Given the description of an element on the screen output the (x, y) to click on. 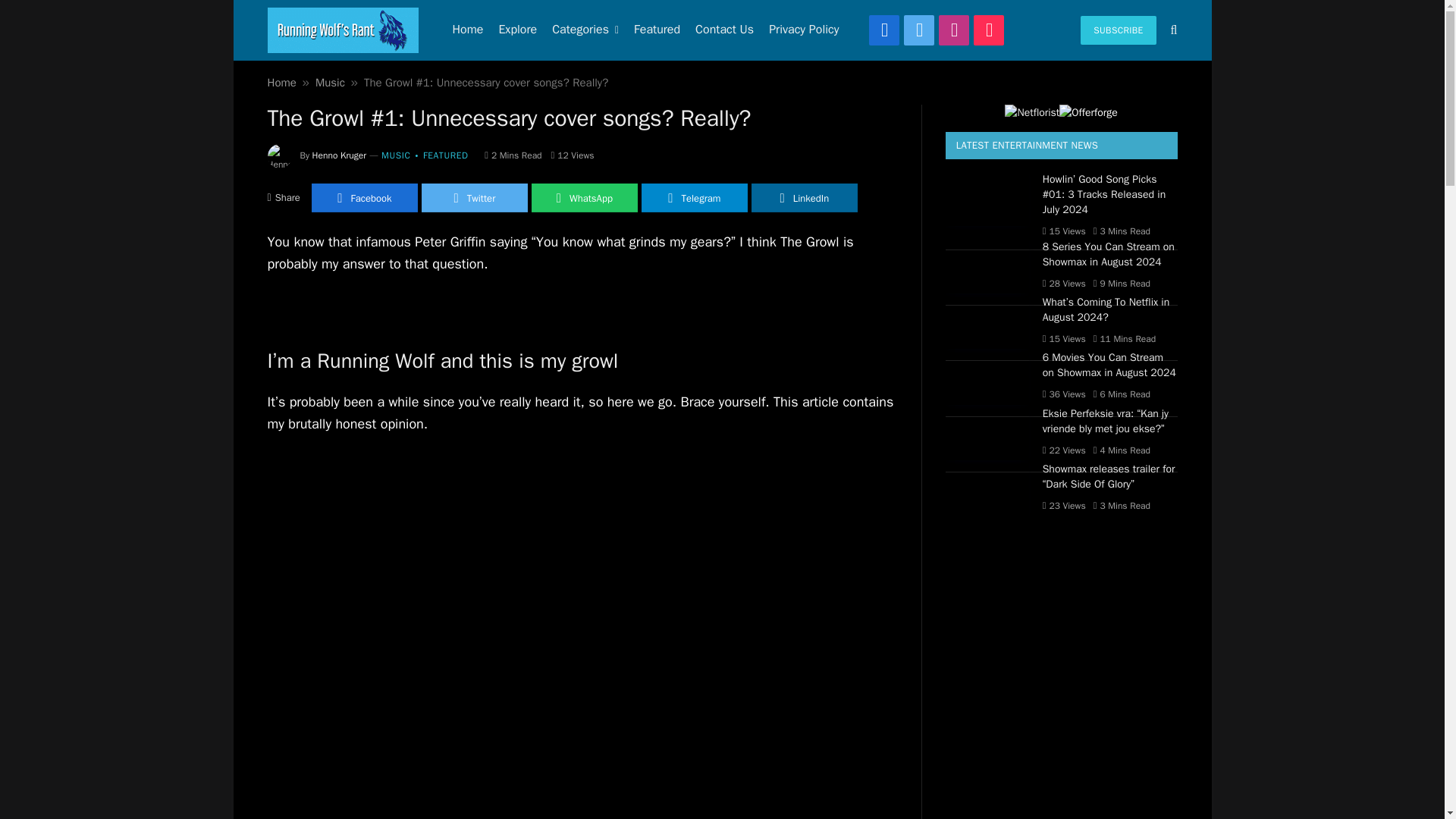
Instagram (954, 30)
Twitter (474, 197)
Music (330, 82)
FEATURED (438, 155)
Share on WhatsApp (584, 197)
Share on LinkedIn (804, 197)
SUBSCRIBE (1118, 30)
Facebook (364, 197)
Running Wolf's Rant (341, 30)
Contact Us (724, 30)
Home (280, 82)
Share on Telegram (695, 197)
MUSIC (395, 155)
12 Article Views (572, 155)
Categories (585, 30)
